Given the description of an element on the screen output the (x, y) to click on. 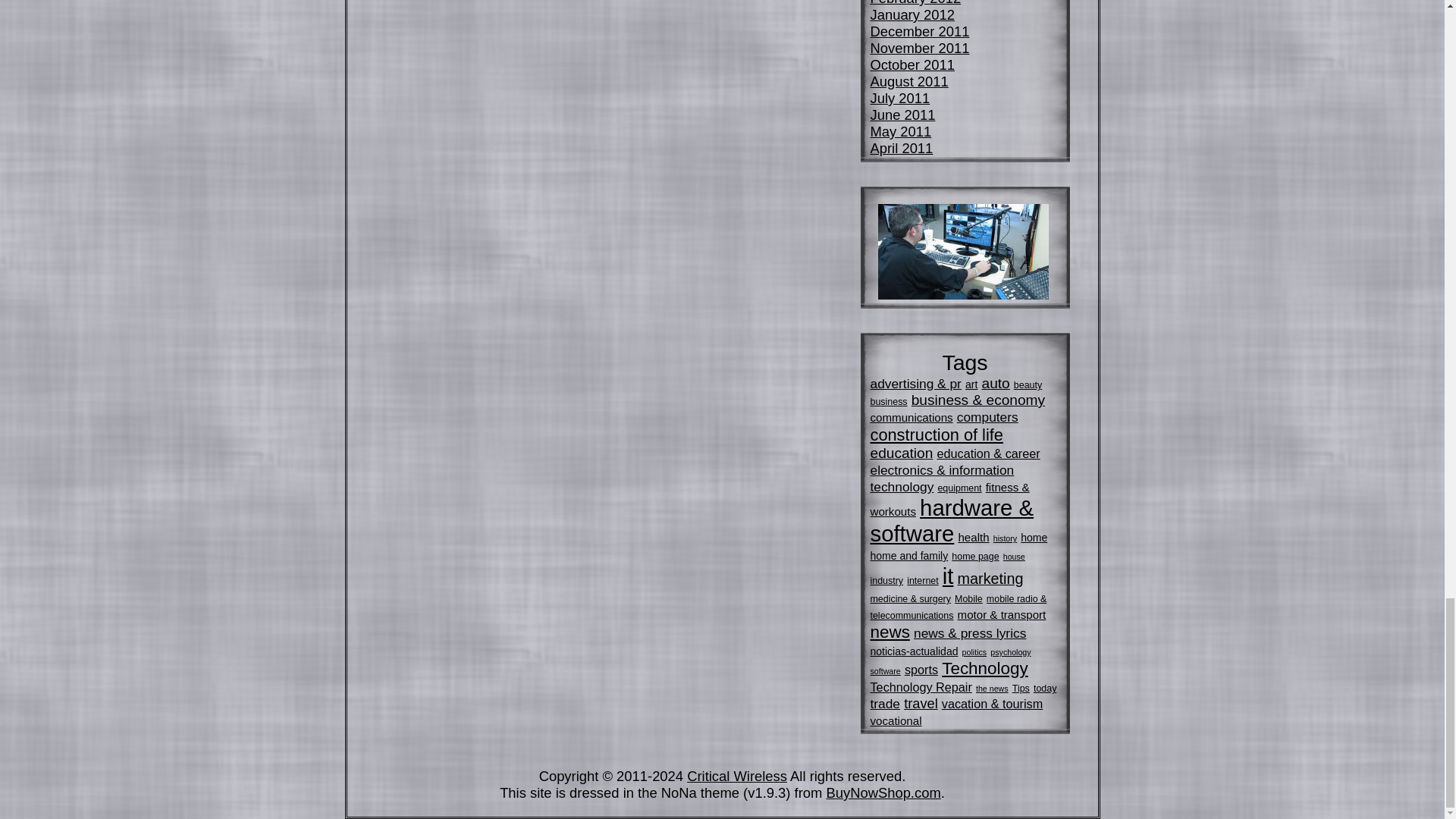
Critical Wireless (737, 775)
BuyNowShop.com (882, 792)
